Given the description of an element on the screen output the (x, y) to click on. 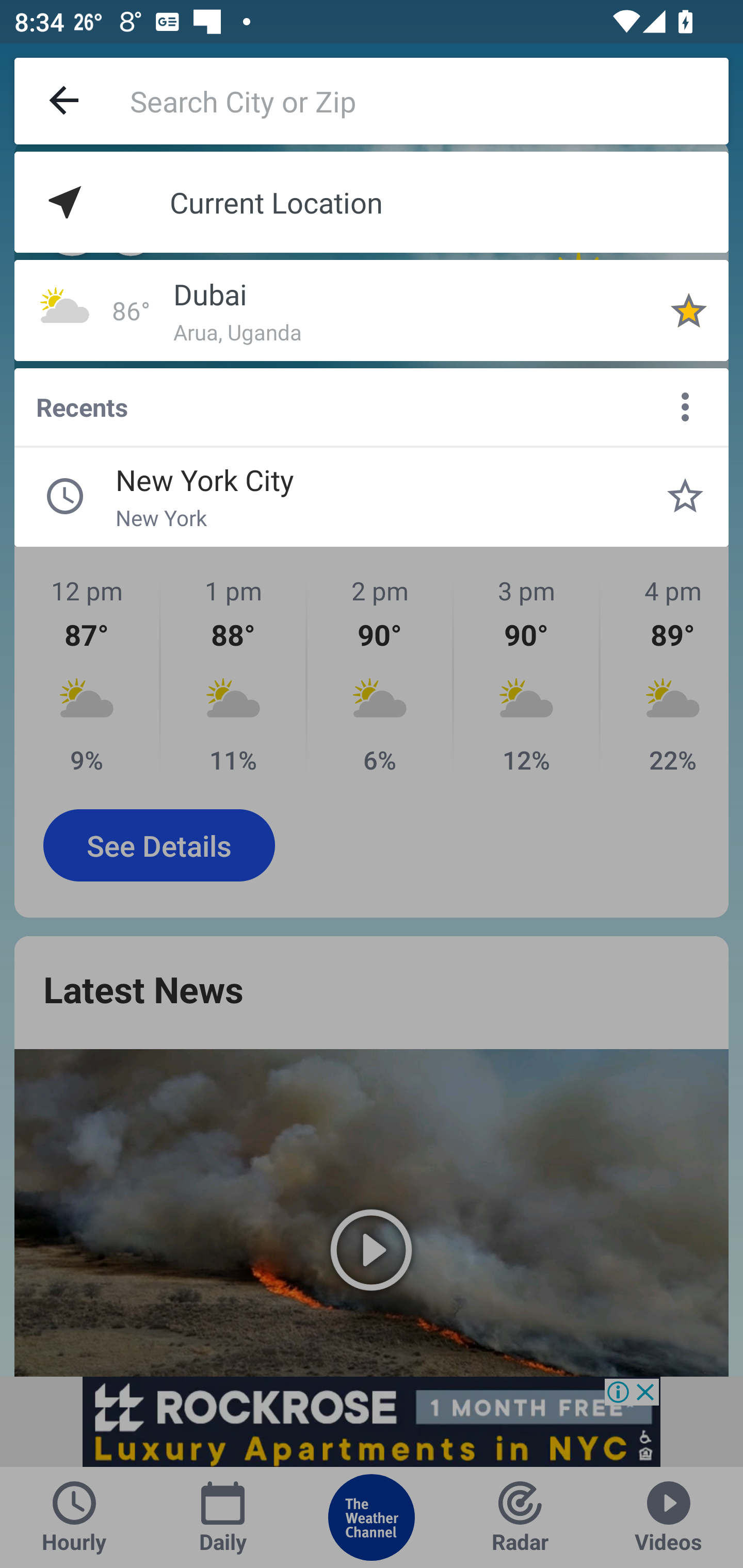
Back (64, 101)
Search City or Zip (429, 100)
Current Location (371, 202)
Dubai Arua, Uganda Remove from favorites (688, 310)
more (685, 406)
New York City New York Add to favorites (684, 496)
